Given the description of an element on the screen output the (x, y) to click on. 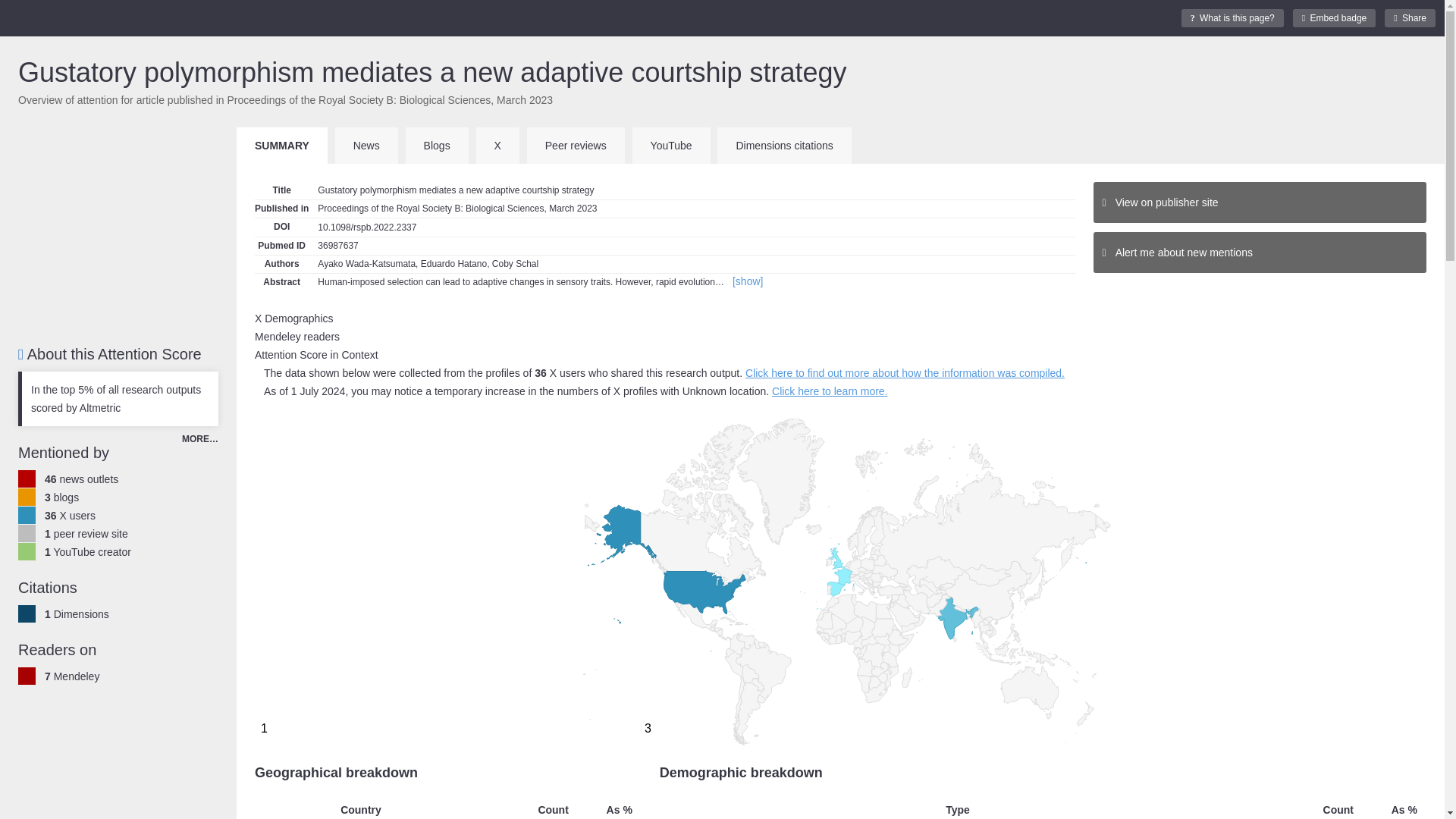
46 news outlets (81, 479)
X (497, 145)
36 X users (70, 515)
3 blogs (61, 497)
What is this page? (77, 613)
Dimensions citations (1232, 18)
Blogs (783, 145)
7 Mendeley (437, 145)
Embed badge (72, 676)
Share (1333, 18)
1 peer review site (1409, 18)
Altmetric (86, 533)
